Given the description of an element on the screen output the (x, y) to click on. 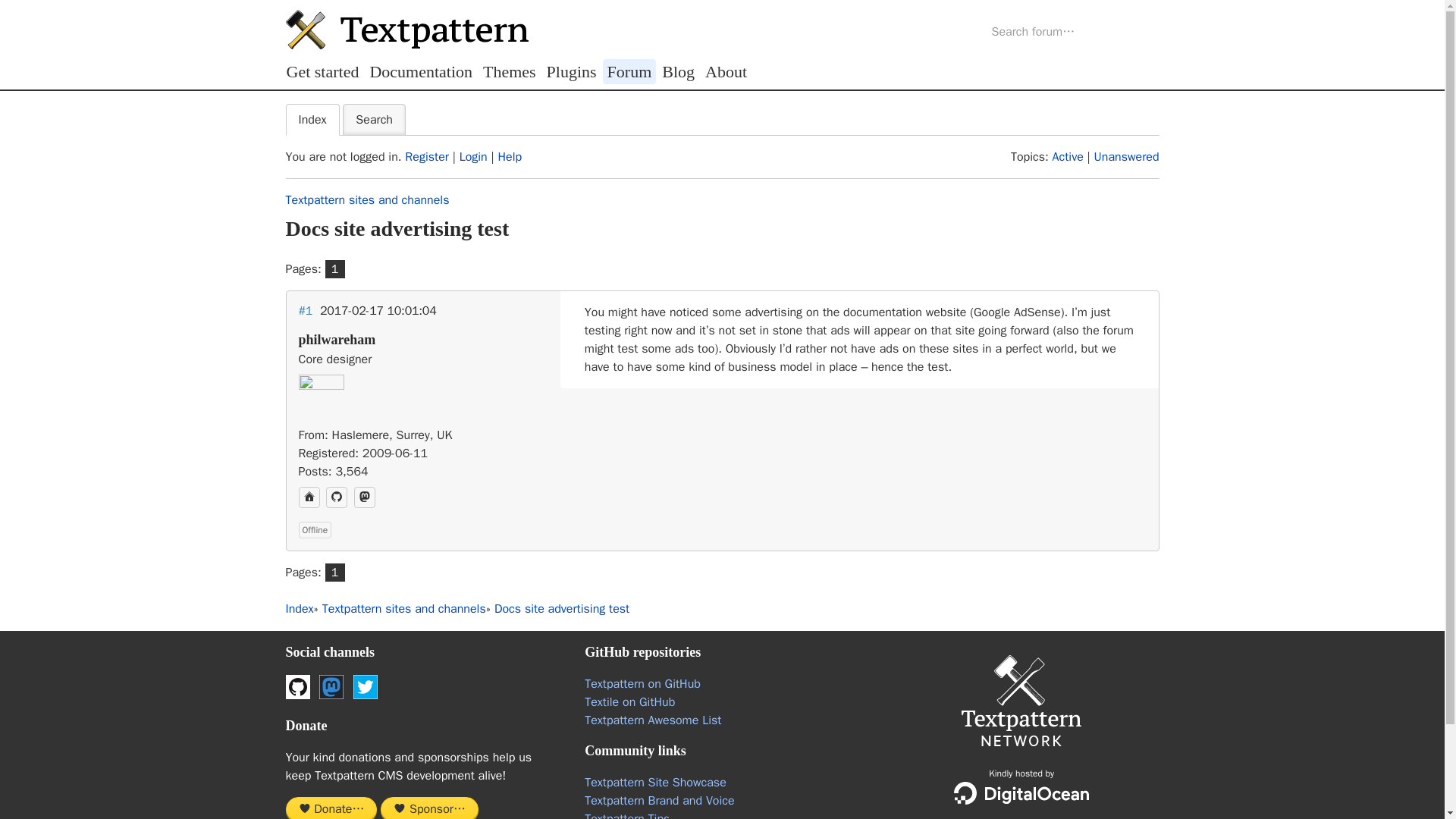
Find topics with recent posts. (1067, 156)
Mastodon (364, 496)
Textile on GitHub (630, 702)
Go to the DigitalOcean website (1021, 793)
GitHub (336, 496)
Textpattern sites and channels (403, 608)
Forum (630, 71)
About (726, 71)
Find topics with no replies. (1126, 156)
